Given the description of an element on the screen output the (x, y) to click on. 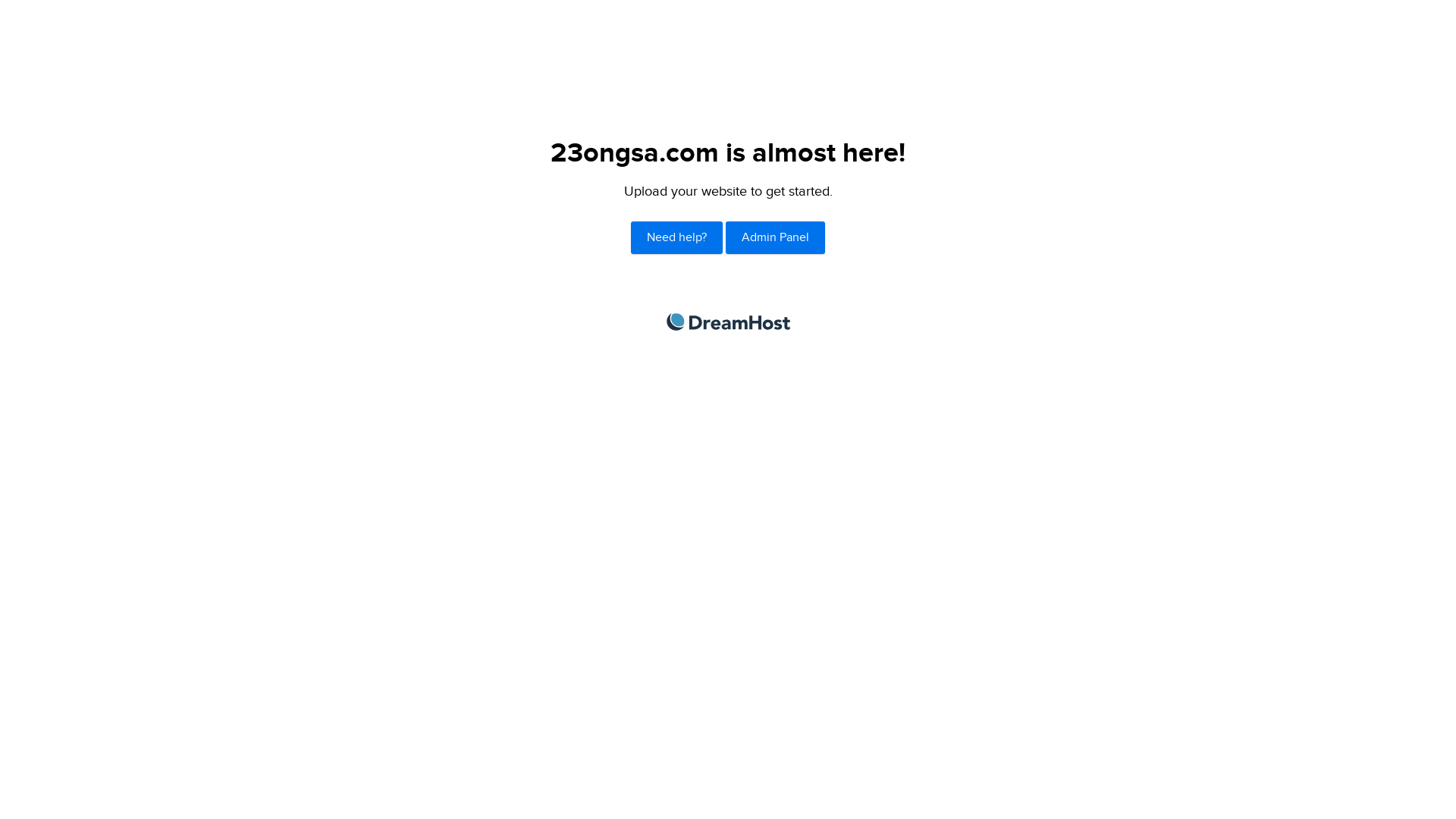
Admin Panel Element type: text (775, 237)
DreamHost Element type: text (727, 320)
Need help? Element type: text (676, 237)
